Given the description of an element on the screen output the (x, y) to click on. 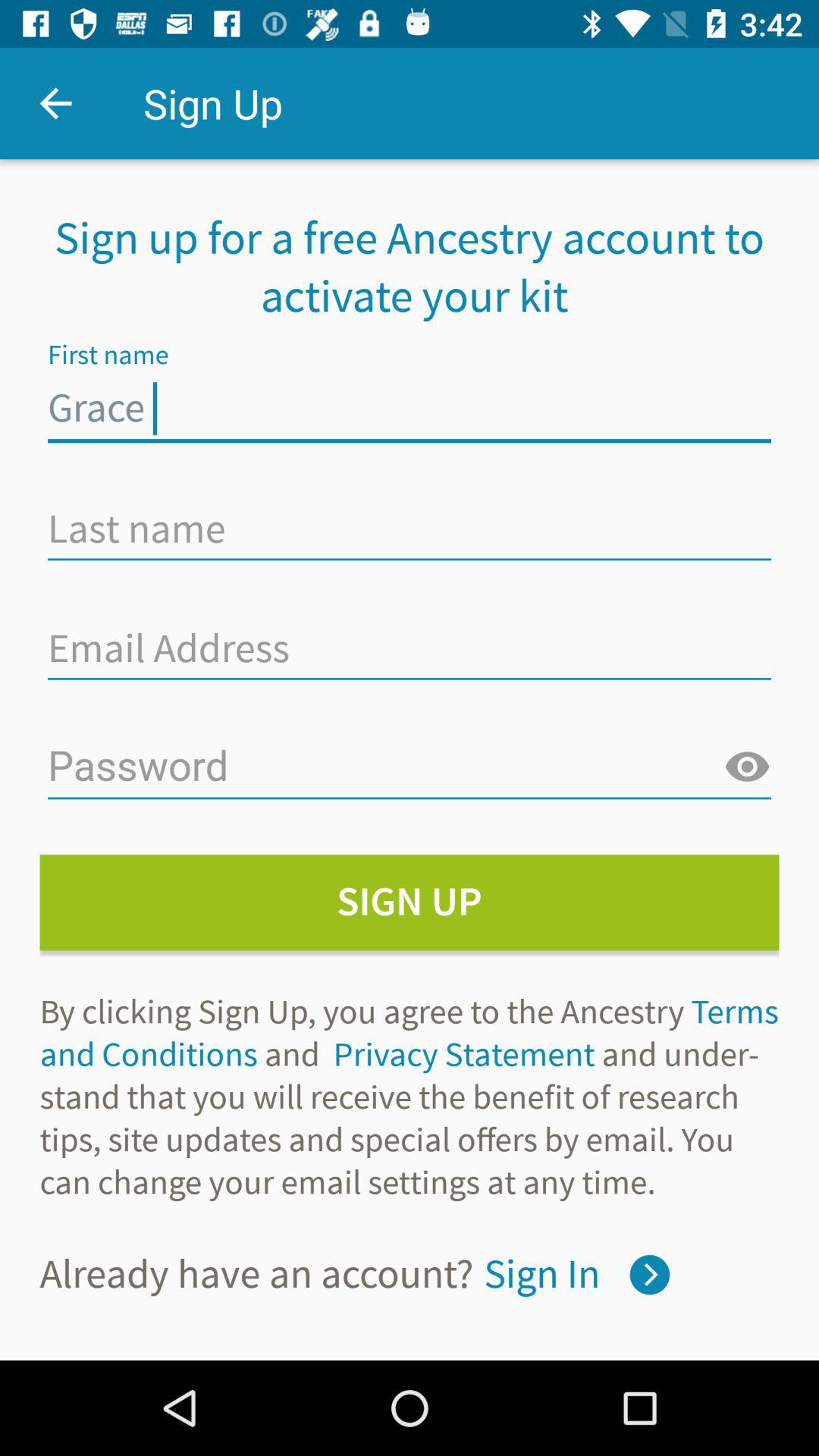
enter last name (409, 528)
